Given the description of an element on the screen output the (x, y) to click on. 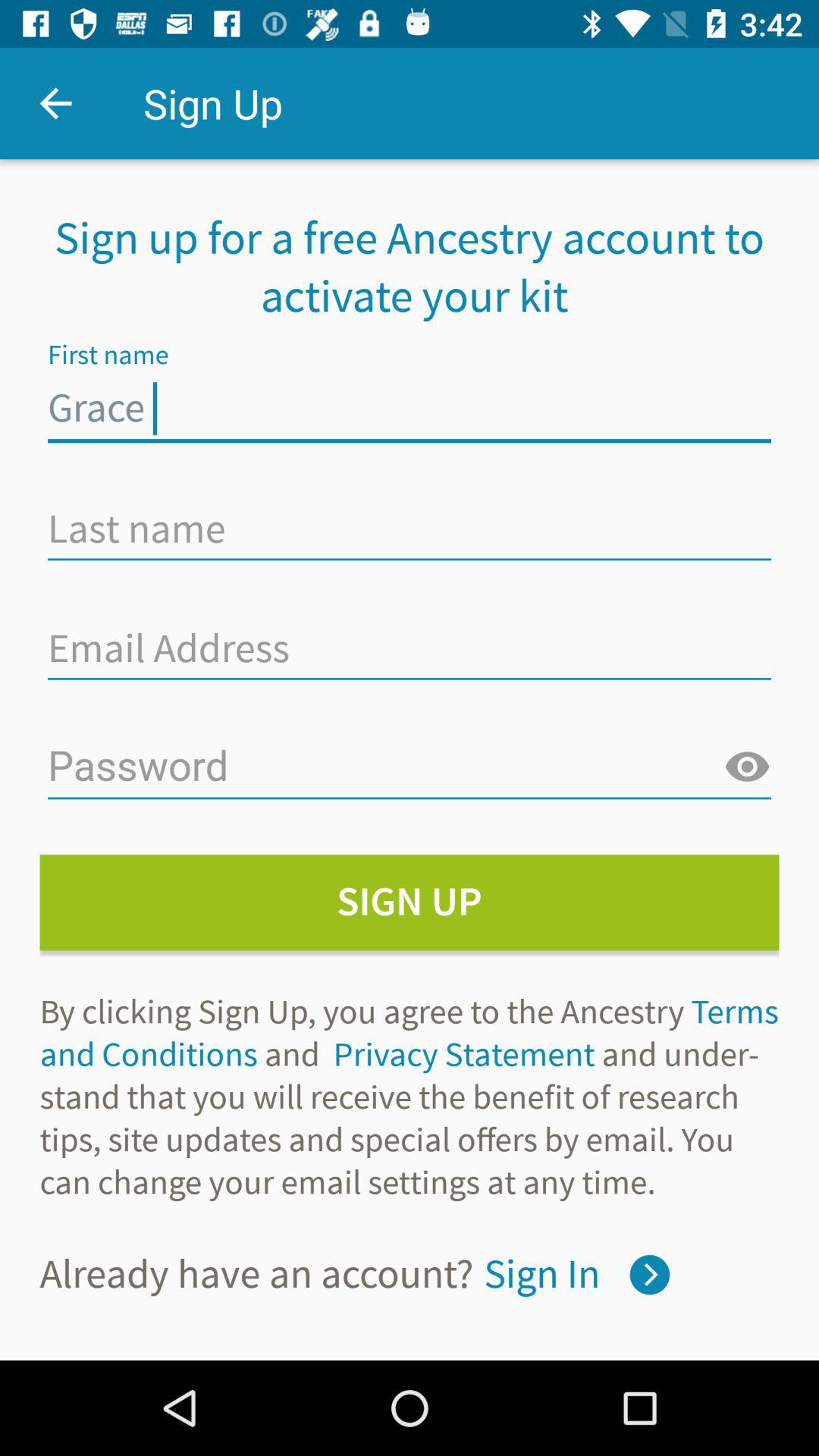
enter last name (409, 528)
